Given the description of an element on the screen output the (x, y) to click on. 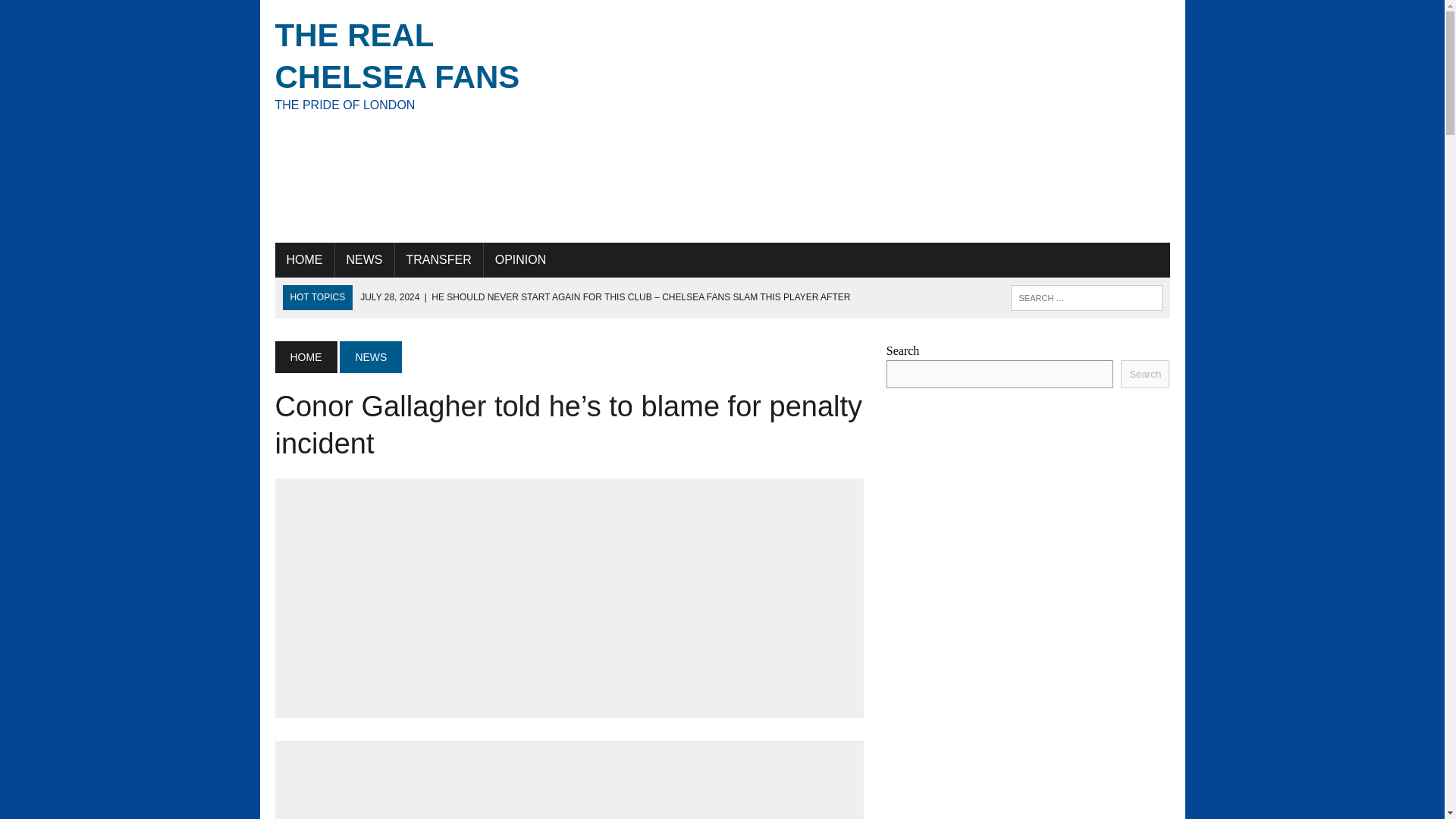
NEWS (370, 357)
HOME (304, 259)
NEWS (364, 259)
Advertisement (569, 786)
OPINION (520, 259)
TRANSFER (437, 259)
Search (75, 14)
Advertisement (875, 121)
HOME (416, 64)
Search (305, 357)
The Real Chelsea Fans (1145, 374)
Advertisement (416, 64)
